Given the description of an element on the screen output the (x, y) to click on. 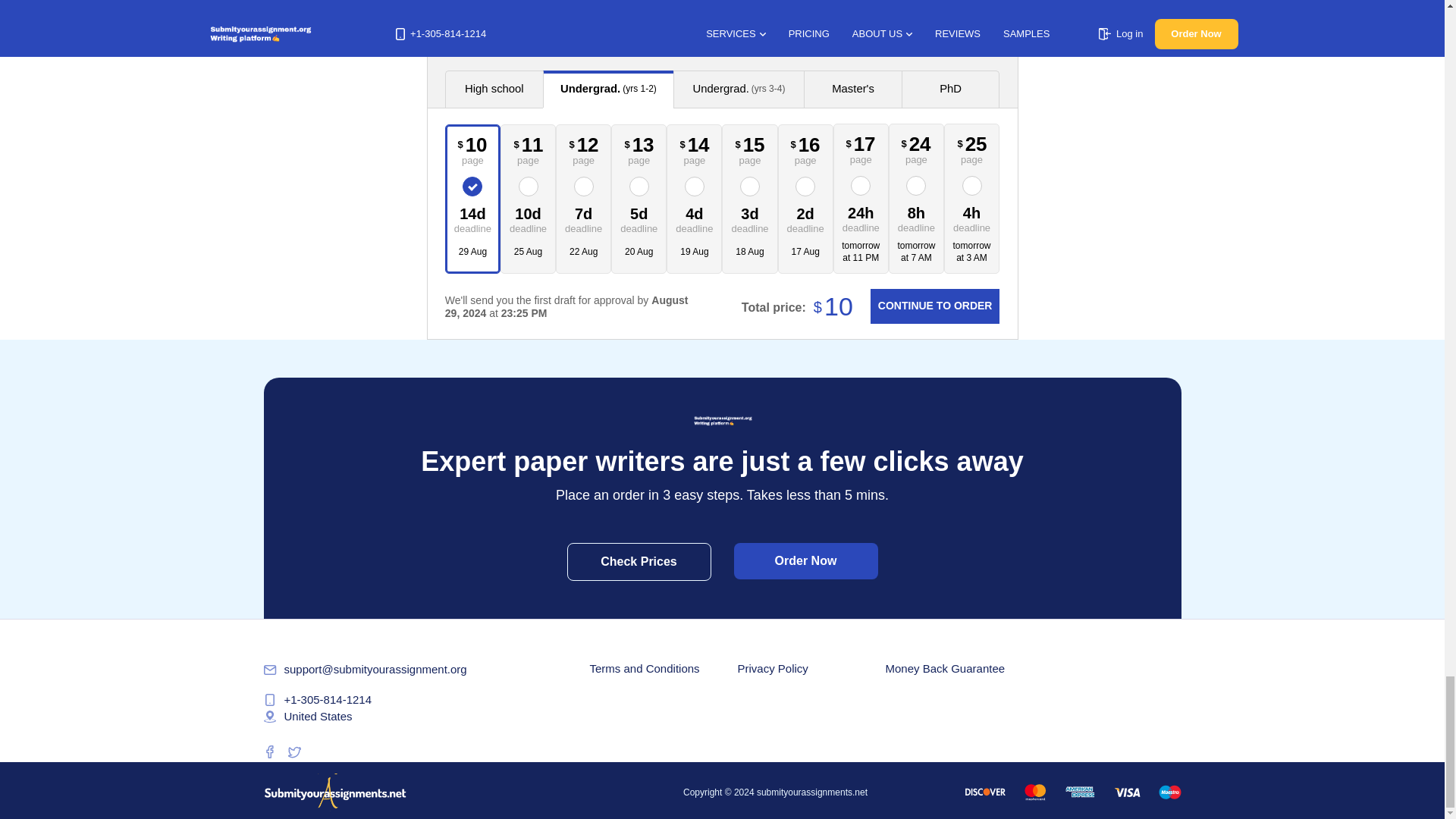
7 days (583, 218)
4 hours (971, 217)
Continue to order (934, 306)
14 days (472, 218)
24 hours (860, 217)
Decrease (902, 20)
4 days (694, 218)
Increase (983, 20)
10 days (528, 218)
5 days (638, 218)
